Given the description of an element on the screen output the (x, y) to click on. 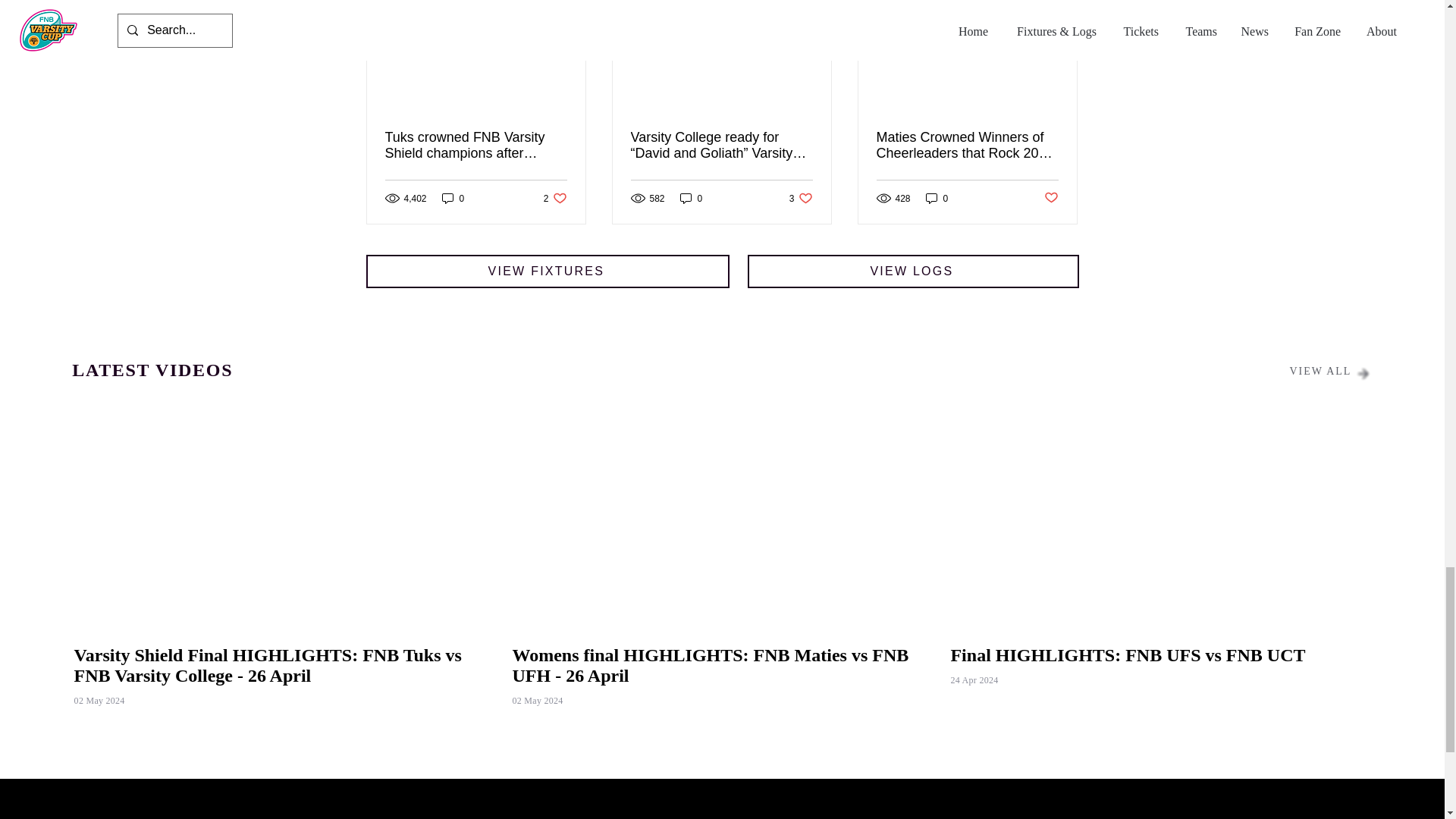
Post not marked as liked (1050, 198)
0 (691, 197)
0 (555, 197)
0 (937, 197)
